Given the description of an element on the screen output the (x, y) to click on. 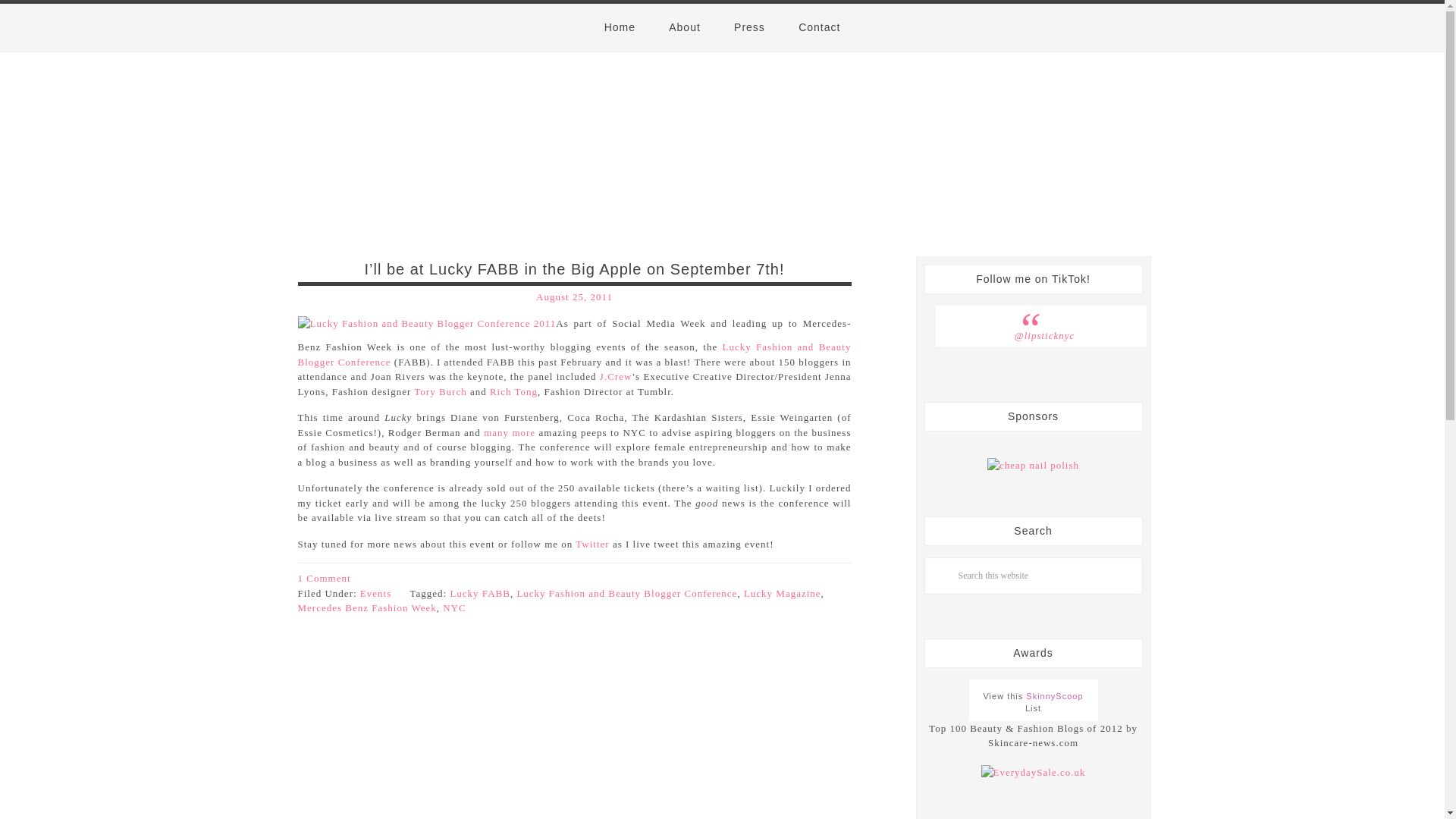
J.Crew (615, 376)
1 Comment (323, 577)
Lucky Fashion and Beauty Blogger Conference (573, 354)
Lipstick and Luxury Twitter (591, 543)
Mercedes Benz Fashion Week (366, 607)
View this SkinnyScoop List (1032, 702)
Rich Tong (513, 390)
Contact (819, 27)
Twitter (591, 543)
